Given the description of an element on the screen output the (x, y) to click on. 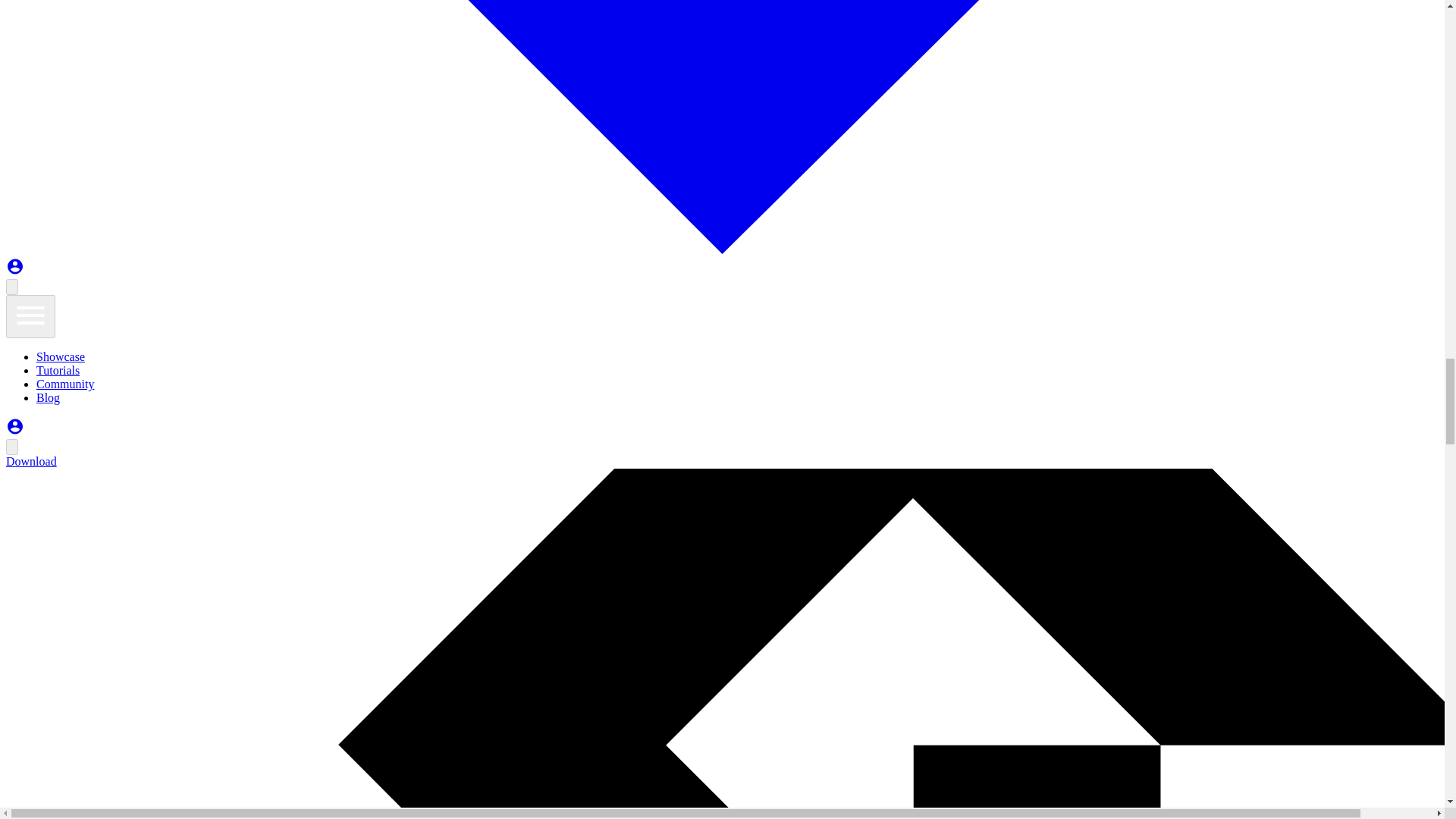
Download (30, 461)
